Given the description of an element on the screen output the (x, y) to click on. 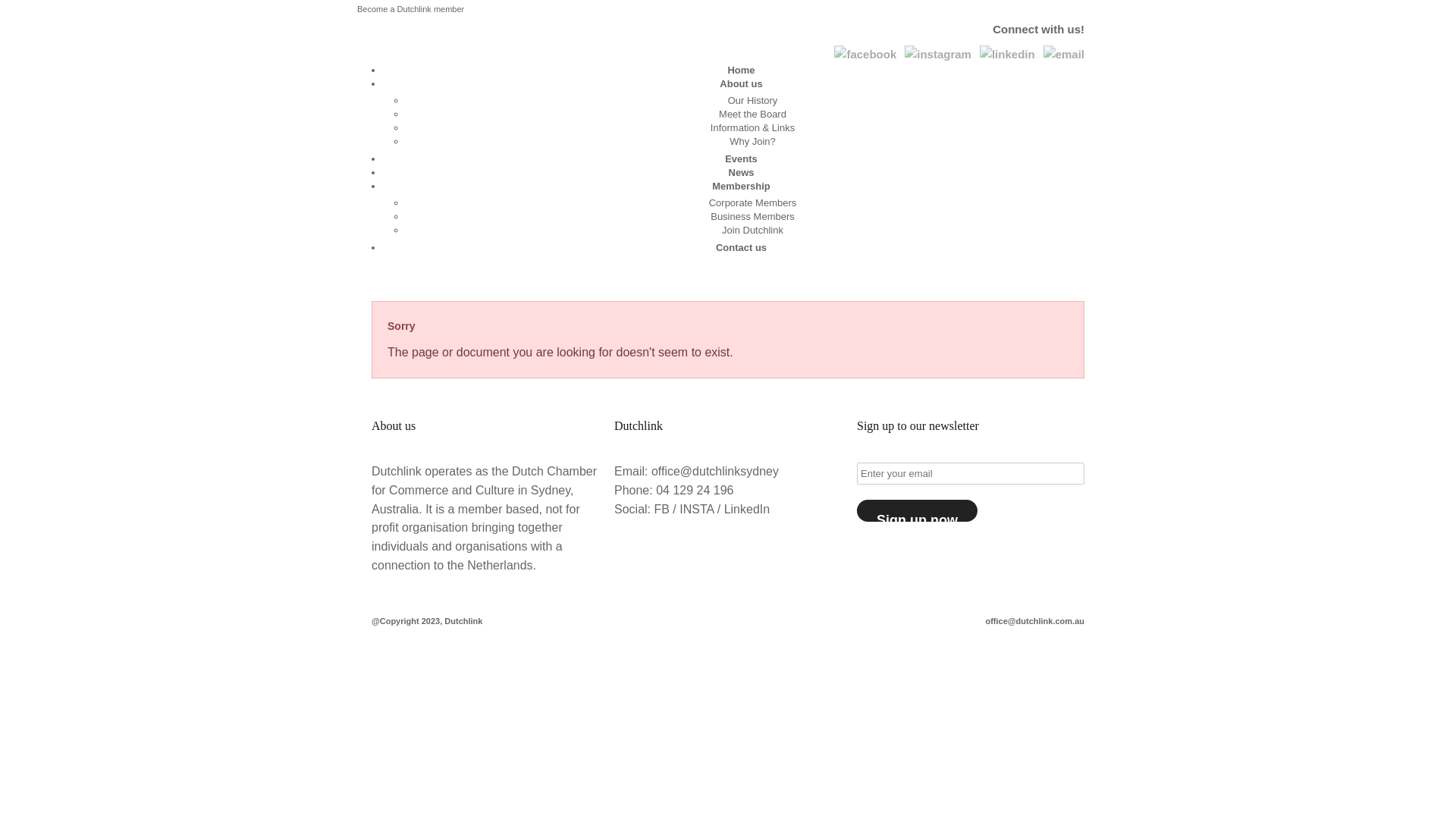
LinkedIn Element type: text (747, 508)
Corporate Members Element type: text (753, 202)
Business Members Element type: text (752, 216)
Our History Element type: text (753, 99)
Meet the Board Element type: text (752, 113)
Why Join? Element type: text (752, 140)
FB Element type: text (660, 508)
About us Element type: text (740, 82)
Become a Dutchlink member Element type: text (410, 9)
INSTA Element type: text (696, 508)
04 129 24 196 Element type: text (694, 489)
Events Element type: text (740, 158)
Sign up now Element type: text (916, 510)
Information & Links Element type: text (752, 126)
Contact us Element type: text (740, 246)
Enter your email Element type: hover (970, 473)
Home Element type: text (740, 69)
Membership Element type: text (741, 185)
office Element type: text (665, 470)
Join Dutchlink Element type: text (752, 229)
News Element type: text (741, 172)
